Given the description of an element on the screen output the (x, y) to click on. 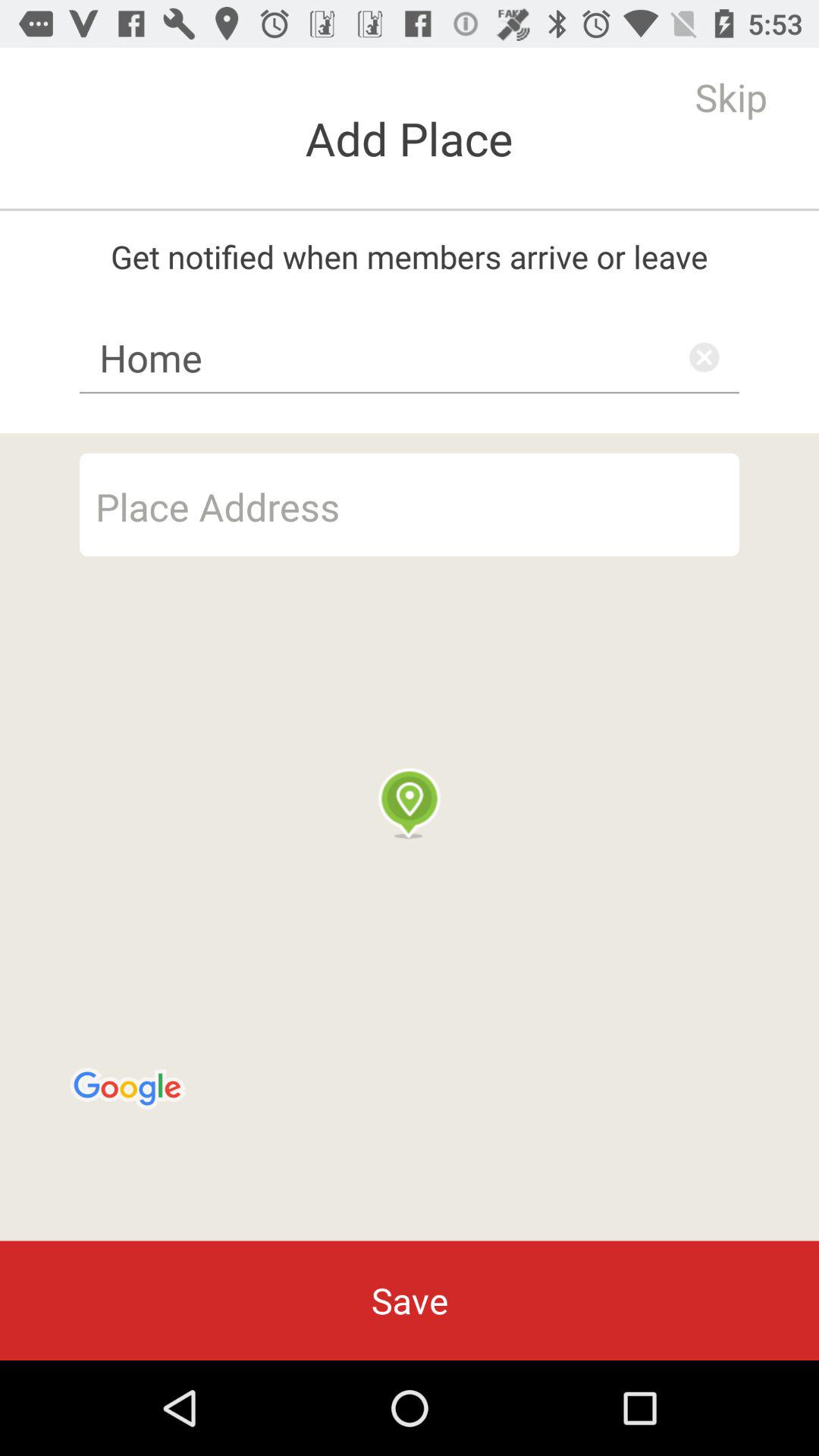
scroll to skip item (731, 97)
